Given the description of an element on the screen output the (x, y) to click on. 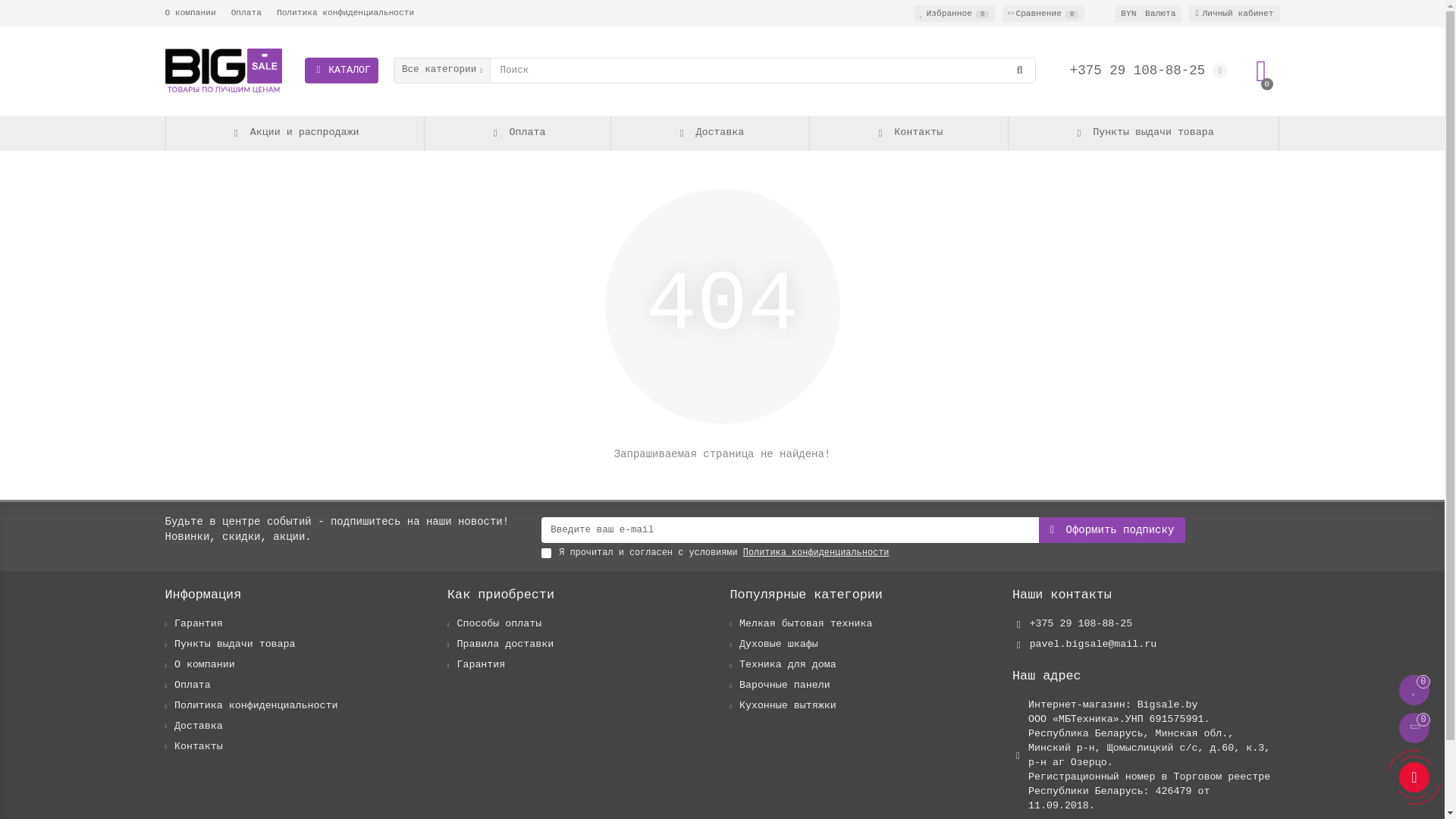
pavel.bigsale@mail.ru Element type: text (1093, 644)
BIGSALE Element type: hover (223, 70)
+375 29 108-88-25 Element type: text (1080, 624)
0 Element type: text (1260, 70)
